Given the description of an element on the screen output the (x, y) to click on. 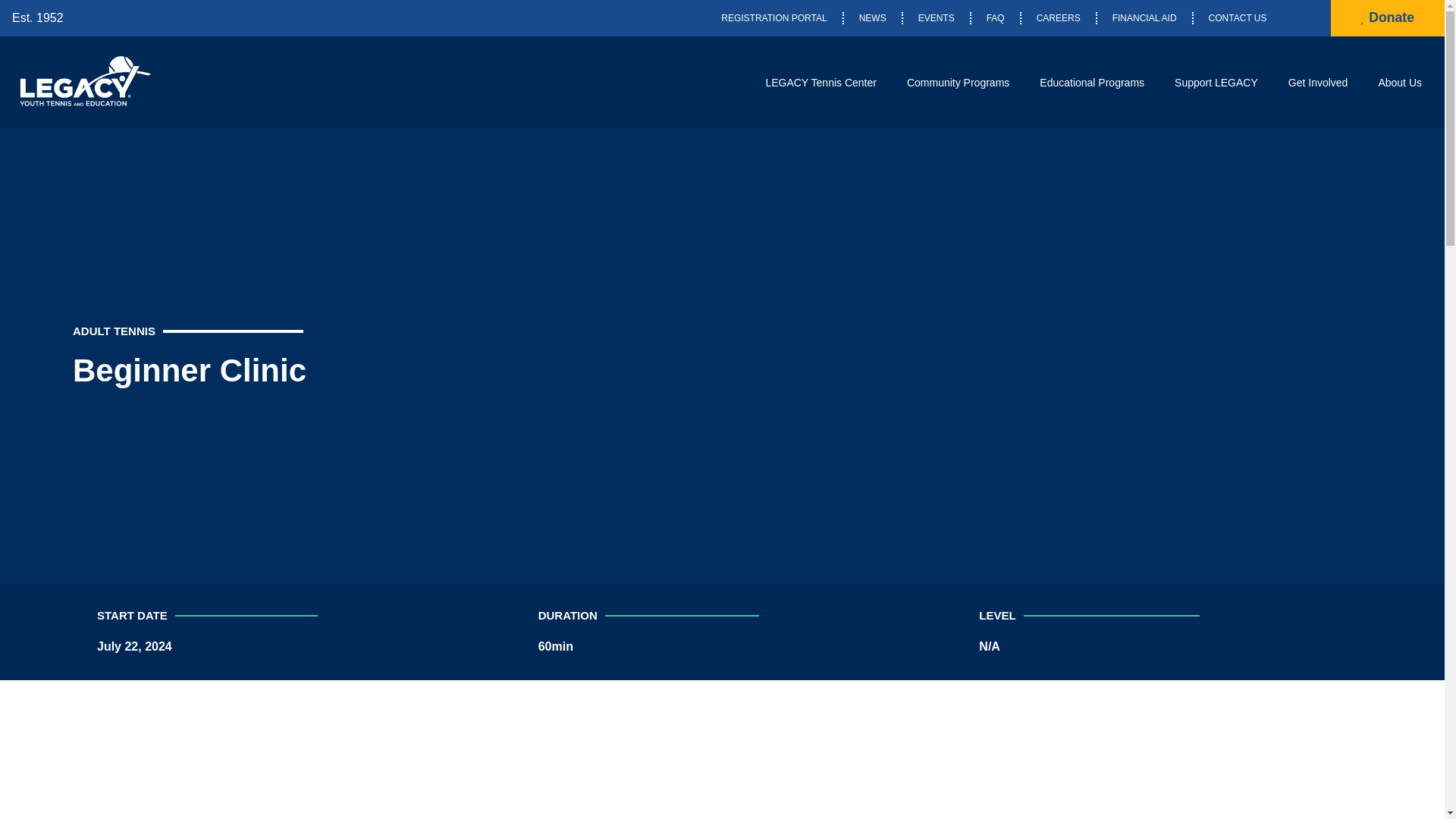
FINANCIAL AID (1144, 18)
CONTACT US (1237, 18)
REGISTRATION PORTAL (773, 18)
EVENTS (935, 18)
FAQ (995, 18)
Community Programs (958, 82)
Get Involved (1317, 82)
Support LEGACY (1215, 82)
Educational Programs (1091, 82)
NEWS (872, 18)
